Given the description of an element on the screen output the (x, y) to click on. 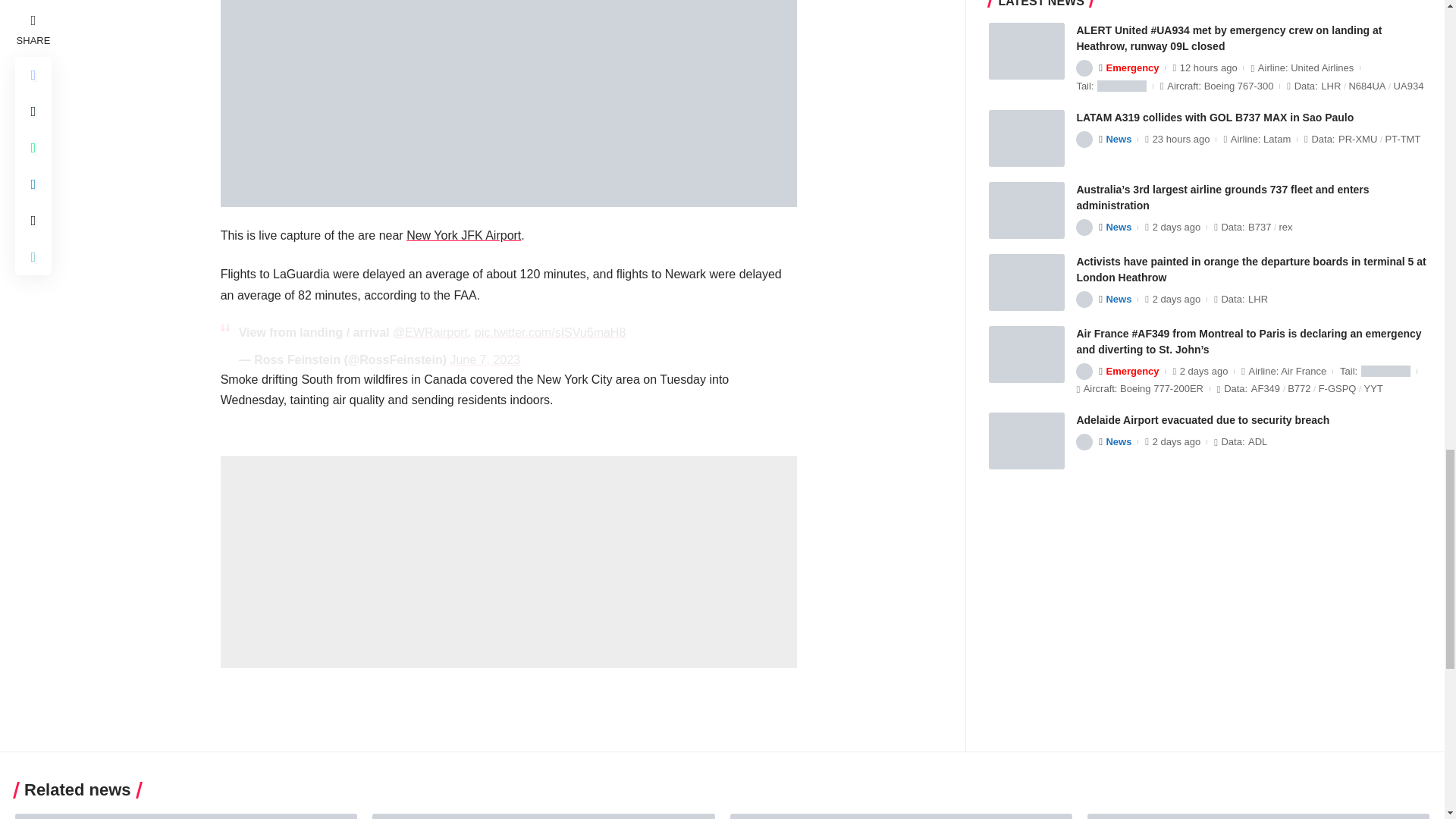
A Saurya Airlines CRJ-200ER has crashed in Kathmandu (1258, 816)
